Given the description of an element on the screen output the (x, y) to click on. 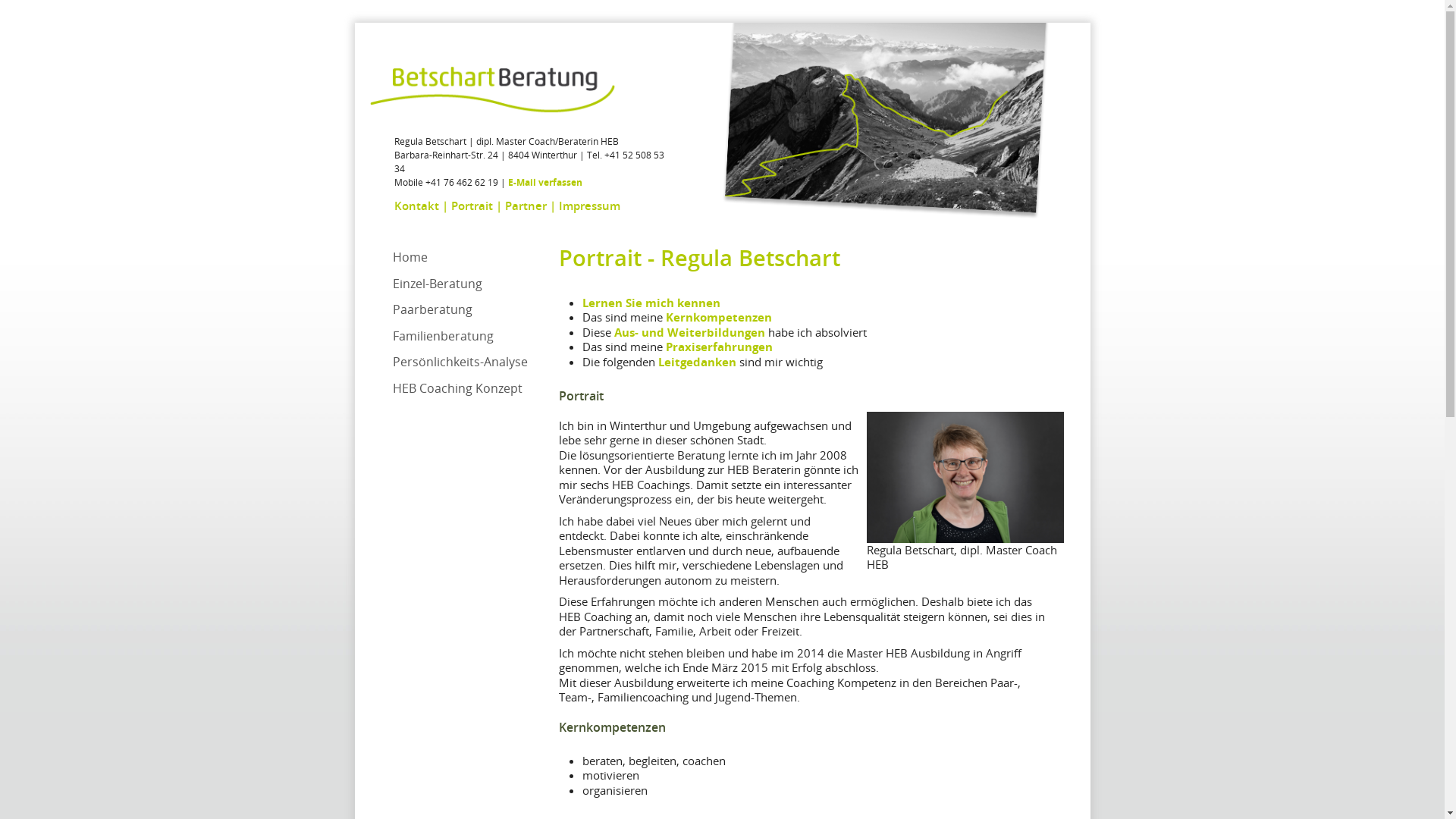
Familienberatung Element type: text (442, 335)
Impressum Element type: text (588, 205)
Lernen Sie mich kennen Element type: text (651, 302)
Paarberatung Element type: text (432, 309)
Landschaft mit gruenem Faden - Betschart Beratung Element type: hover (875, 128)
Einzel-Beratung Element type: text (437, 282)
Kontakt Element type: text (416, 205)
Kernkompetenzen Element type: text (718, 316)
Aus- und Weiterbildungen Element type: text (689, 331)
HEB Coaching Konzept Element type: text (457, 387)
Praxiserfahrungen Element type: text (718, 346)
Partner Element type: text (525, 205)
Regula Betschart, dipl. Master Coach/Beraterin HEB Element type: hover (964, 476)
Betschart Beratung Winterthur Element type: hover (492, 90)
E-Mail verfassen Element type: text (545, 181)
Portrait Element type: text (471, 205)
Leitgedanken Element type: text (697, 361)
Home Element type: text (409, 256)
